Given the description of an element on the screen output the (x, y) to click on. 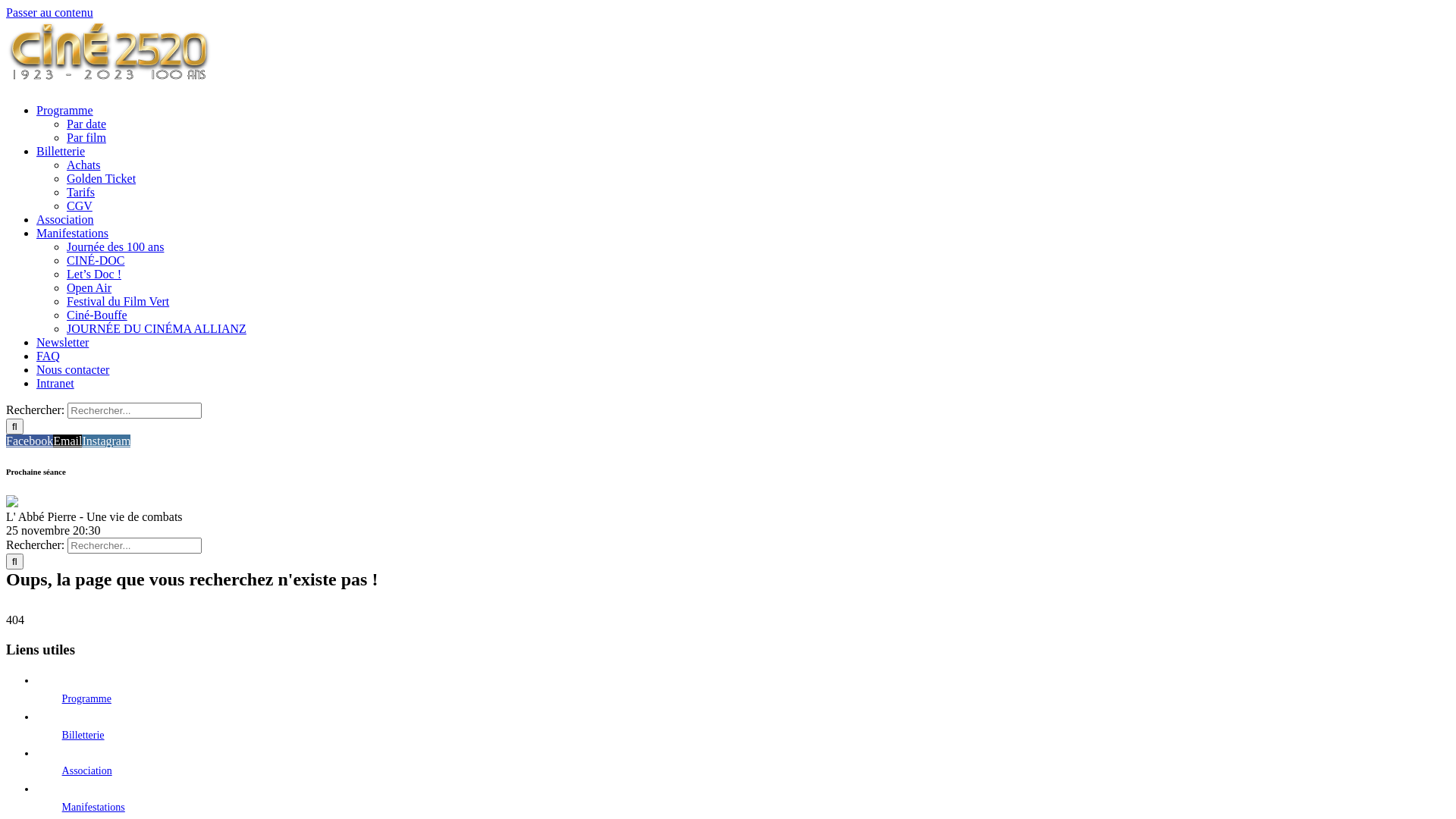
Tarifs Element type: text (80, 191)
Manifestations Element type: text (93, 806)
Facebook Element type: text (29, 440)
CGV Element type: text (79, 205)
Festival du Film Vert Element type: text (117, 300)
Email Element type: text (67, 440)
Passer au contenu Element type: text (49, 12)
Par film Element type: text (86, 137)
Manifestations Element type: text (72, 232)
Achats Element type: text (83, 164)
Golden Ticket Element type: text (100, 178)
Programme Element type: text (86, 698)
Billetterie Element type: text (83, 734)
Billetterie Element type: text (60, 150)
Open Air Element type: text (88, 287)
Programme Element type: text (64, 109)
Association Element type: text (65, 219)
Instagram Element type: text (105, 440)
FAQ Element type: text (47, 355)
Par date Element type: text (86, 123)
Nous contacter Element type: text (72, 369)
Association Element type: text (87, 770)
Newsletter Element type: text (62, 341)
Intranet Element type: text (55, 382)
